Given the description of an element on the screen output the (x, y) to click on. 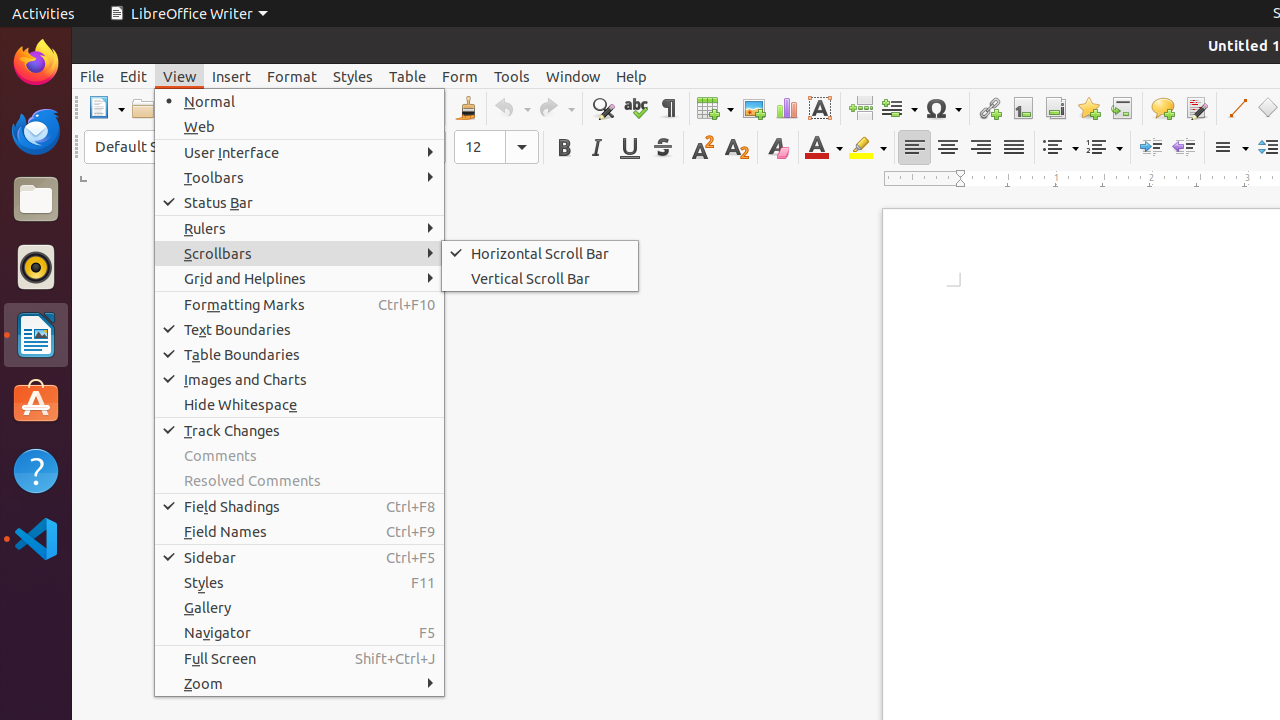
Chart Element type: push-button (786, 108)
Format Element type: menu (292, 76)
Toolbars Element type: menu (299, 177)
Font Size Element type: combo-box (496, 147)
Strikethrough Element type: toggle-button (662, 147)
